Given the description of an element on the screen output the (x, y) to click on. 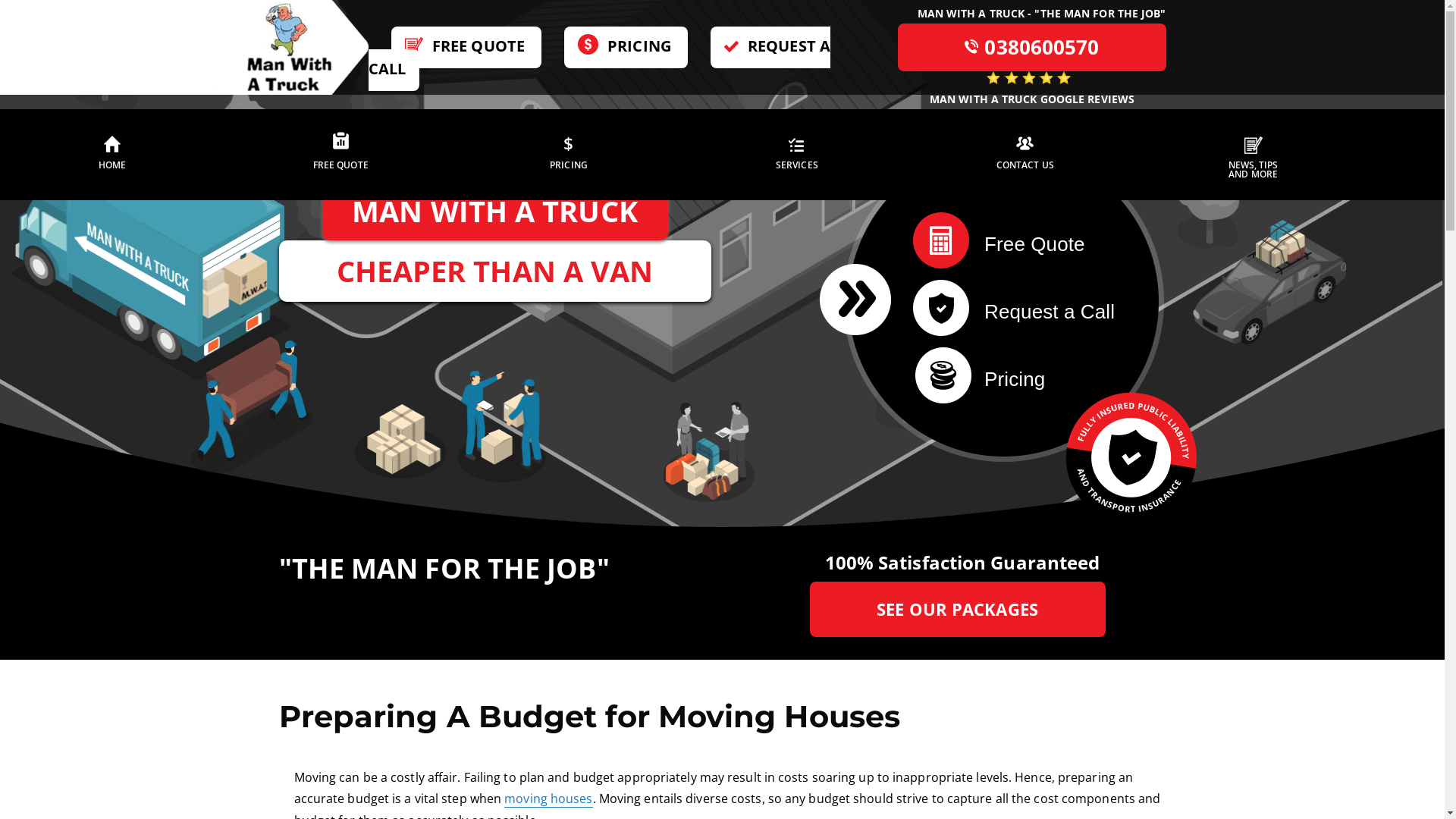
0380600570 Element type: text (1031, 47)
SEE OUR PACKAGES Element type: text (957, 609)
Free Quote Element type: text (1022, 240)
PRICING Element type: text (625, 47)
NEWS, TIPS AND MORE Element type: text (1253, 154)
MAN WITH A TRUCK GOOGLE REVIEWS Element type: text (1031, 90)
moving houses Element type: text (548, 798)
CONTACT US Element type: text (1025, 154)
FREE QUOTE Element type: text (466, 47)
Man With A Truck Element type: text (286, 45)
HOME Element type: text (112, 154)
Pricing Element type: text (1022, 375)
SERVICES Element type: text (796, 154)
Request a Call Element type: text (1022, 307)
FREE QUOTE Element type: text (340, 154)
REQUEST A CALL Element type: text (599, 58)
PRICING Element type: text (568, 154)
